Given the description of an element on the screen output the (x, y) to click on. 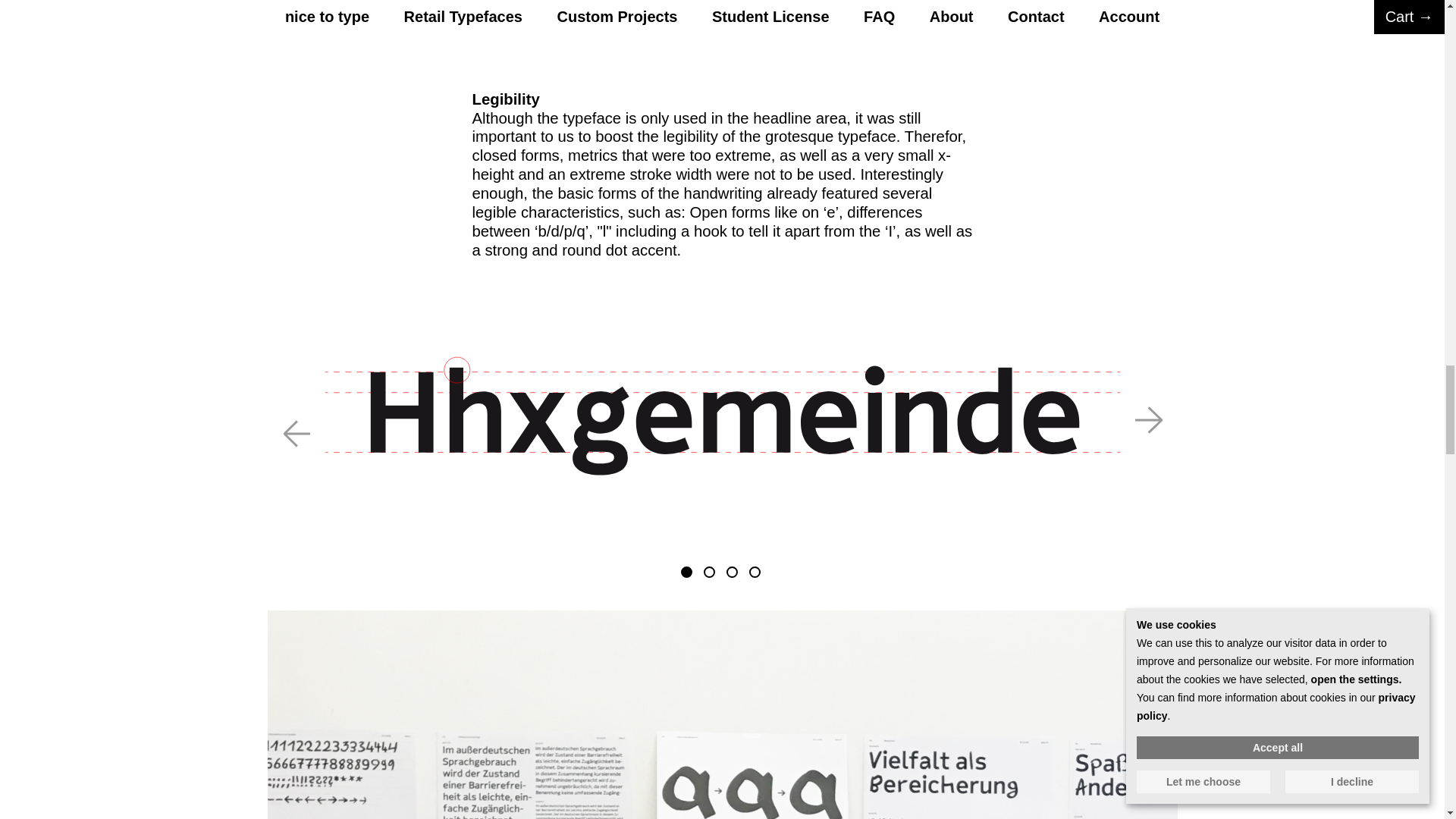
Next (1147, 420)
Previous (295, 433)
1 (687, 572)
4 (754, 572)
2 (708, 572)
3 (732, 572)
